Given the description of an element on the screen output the (x, y) to click on. 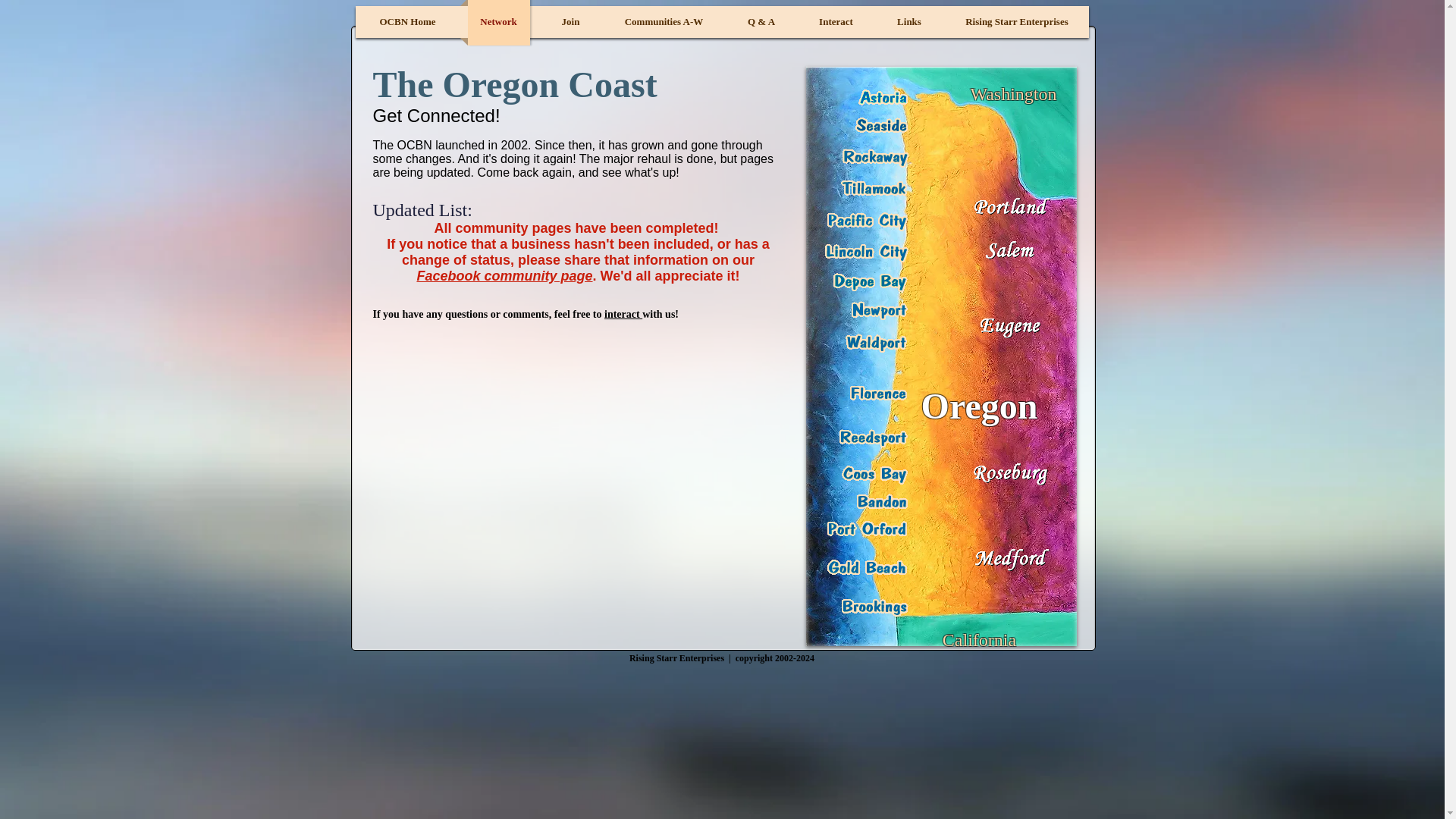
Rising Starr Enterprises (1015, 22)
Links (908, 22)
interact (623, 314)
Network (498, 22)
OCBN Home (408, 22)
Facebook community page (504, 275)
Communities A-W (663, 22)
Interact (836, 22)
Join (570, 22)
Astoria (883, 96)
